Given the description of an element on the screen output the (x, y) to click on. 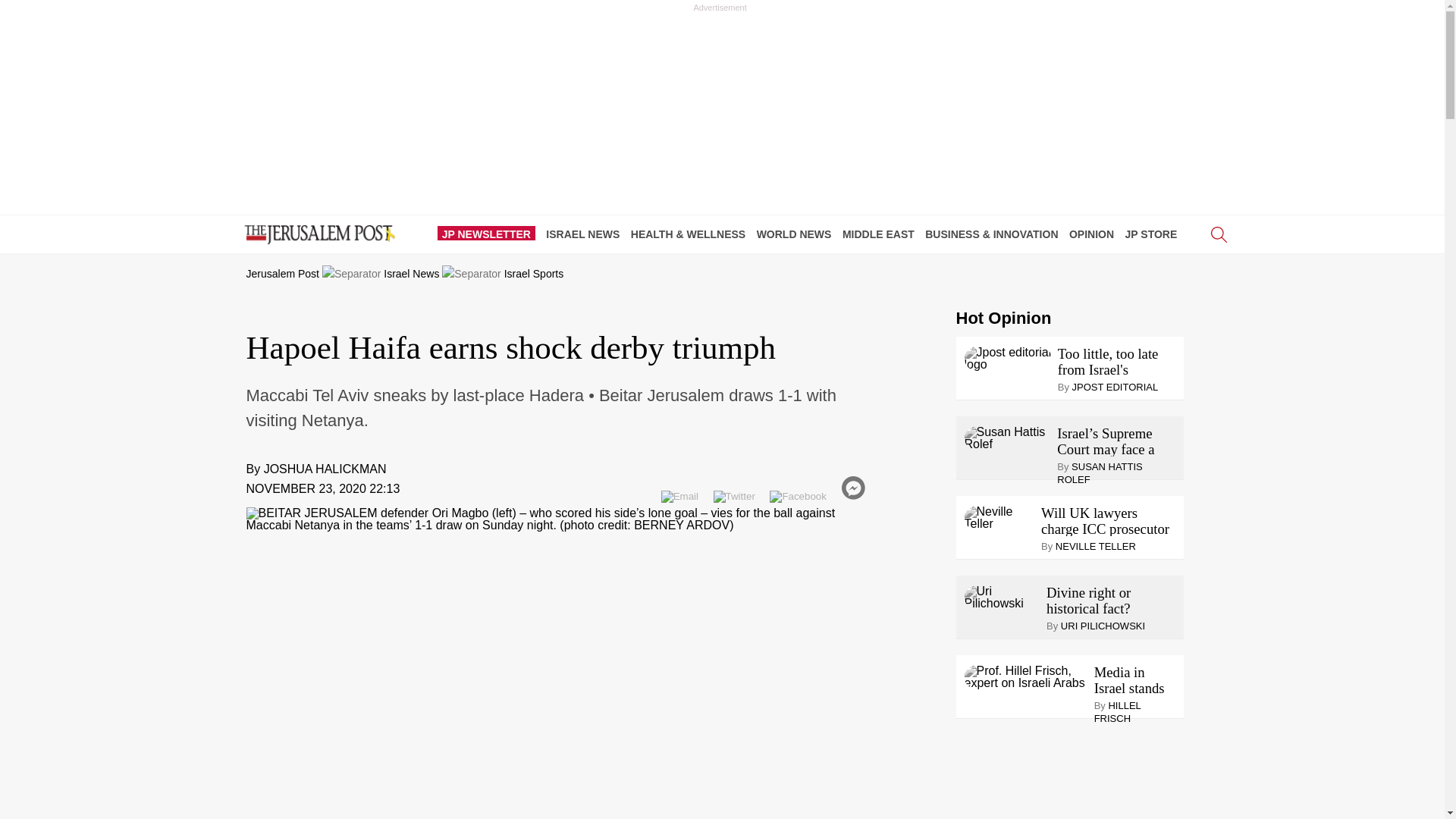
Share with mail: Hapoel Haifa earns shock derby triumph (679, 496)
Neville Teller  (999, 517)
OPINION (1094, 234)
The Jerusalem Post Logo - Bring them home now (316, 235)
JPOST EDITORIAL (1114, 387)
JP NEWSLETTER (490, 234)
Israel News (411, 273)
WORLD NEWS (798, 234)
Hot Opinion (1003, 317)
